Given the description of an element on the screen output the (x, y) to click on. 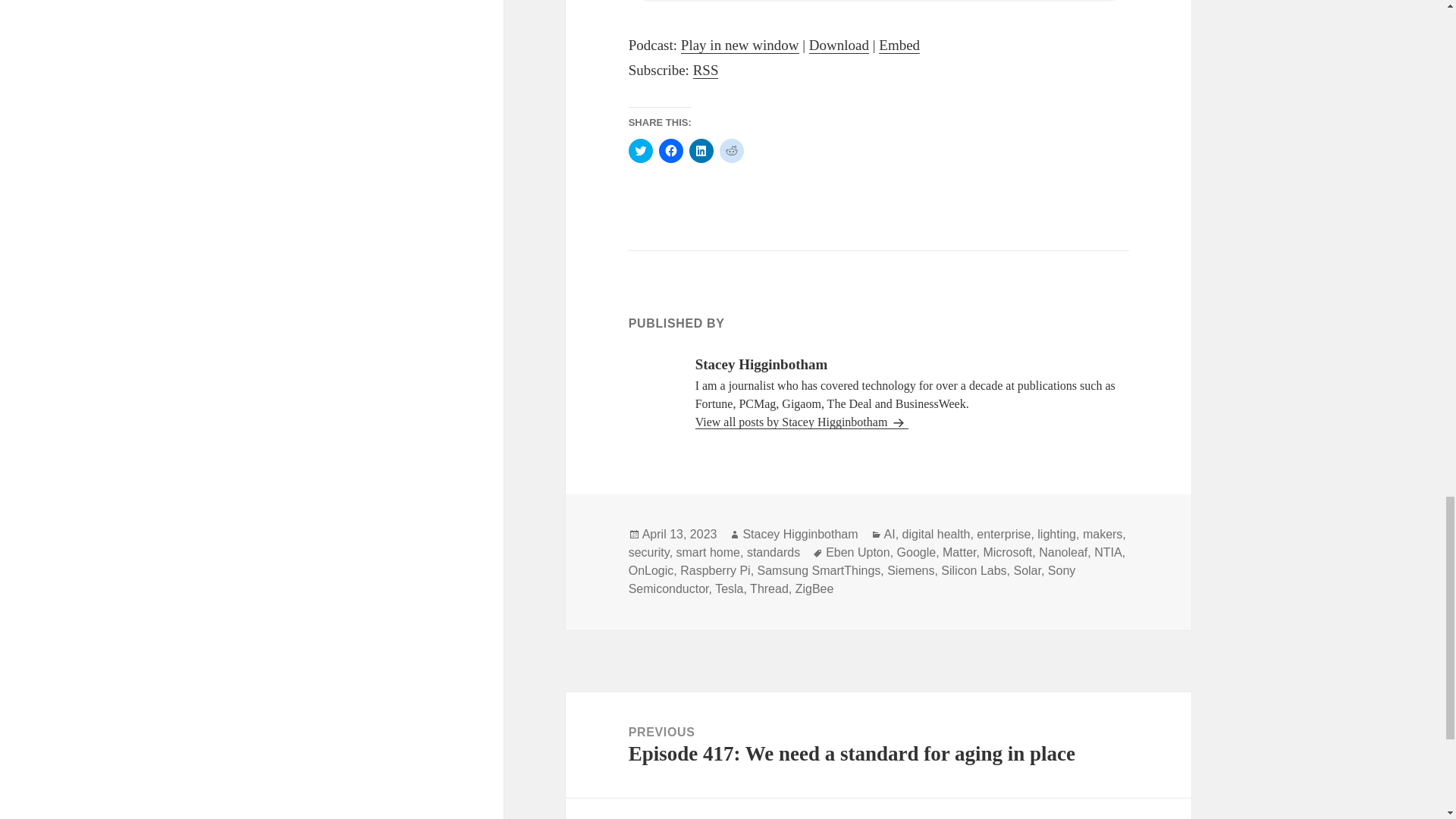
Click to share on LinkedIn (700, 150)
Download (839, 45)
Play in new window (740, 45)
Subscribe via RSS (706, 70)
Embed (899, 45)
Play in new window (740, 45)
Download (839, 45)
Click to share on Twitter (640, 150)
Click to share on Facebook (670, 150)
View all posts by Stacey Higginbotham (801, 422)
Embed (899, 45)
Click to share on Reddit (731, 150)
RSS (706, 70)
